Given the description of an element on the screen output the (x, y) to click on. 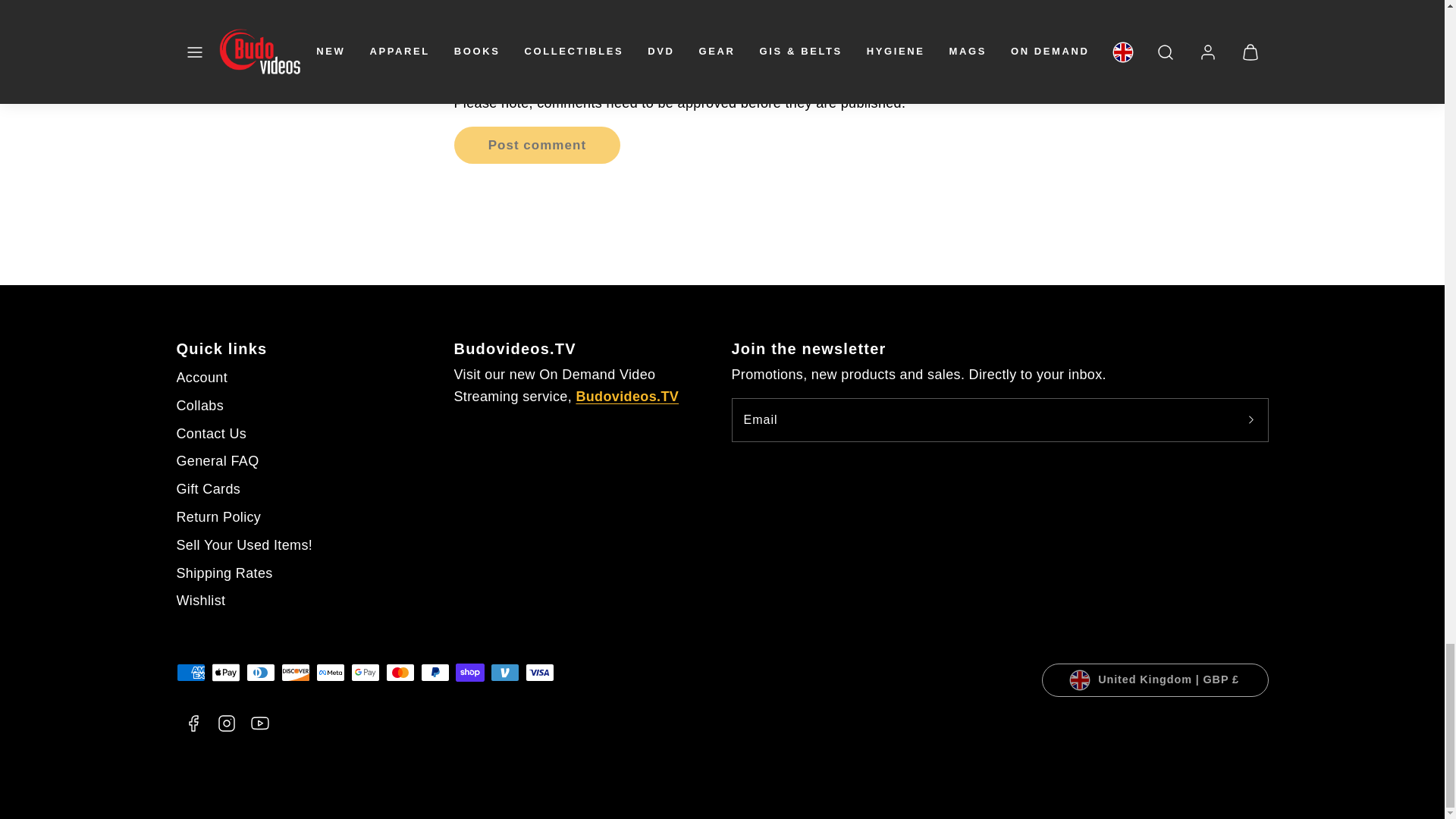
PayPal (434, 672)
Shop Pay (468, 672)
Apple Pay (225, 672)
Post comment (536, 145)
Venmo (503, 672)
Diners Club (260, 672)
Visa (538, 672)
American Express (190, 672)
Discover (294, 672)
Mastercard (399, 672)
